Given the description of an element on the screen output the (x, y) to click on. 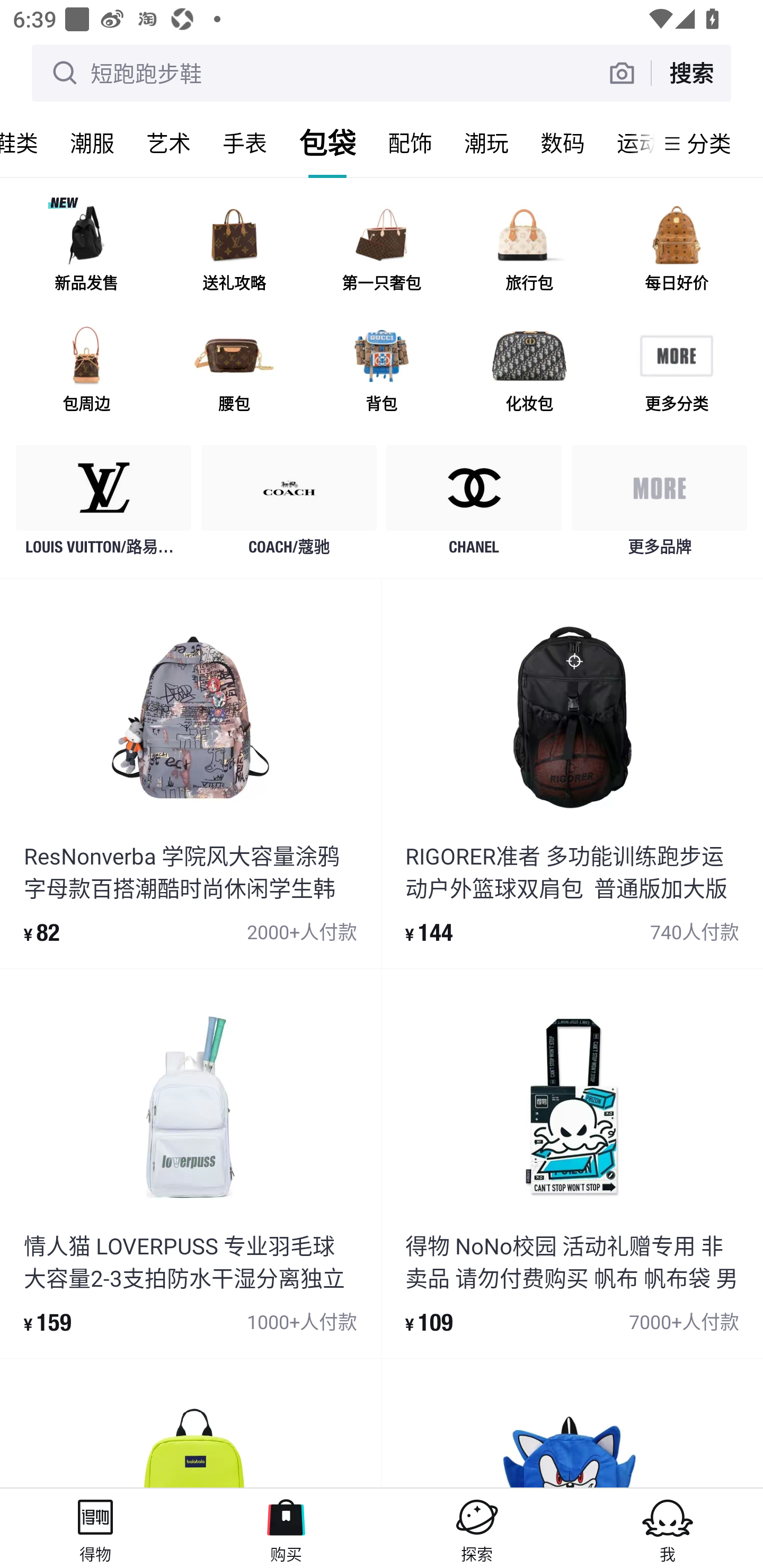
搜索 (690, 72)
鞋类 (27, 143)
潮服 (92, 143)
艺术 (168, 143)
手表 (244, 143)
包袋 (327, 143)
配饰 (410, 143)
潮玩 (486, 143)
数码 (562, 143)
运动 (627, 143)
分类 (708, 143)
新品发售 (86, 251)
送礼攻略 (233, 251)
第一只奢包 (381, 251)
旅行包 (528, 251)
每日好价 (676, 251)
包周边 (86, 372)
腰包 (233, 372)
背包 (381, 372)
化妆包 (528, 372)
更多分类 (676, 372)
LOUIS VUITTON/路易威登 (103, 505)
COACH/蔻驰 (288, 505)
CHANEL (473, 505)
更多品牌 (658, 505)
得物 (95, 1528)
购买 (285, 1528)
探索 (476, 1528)
我 (667, 1528)
